Given the description of an element on the screen output the (x, y) to click on. 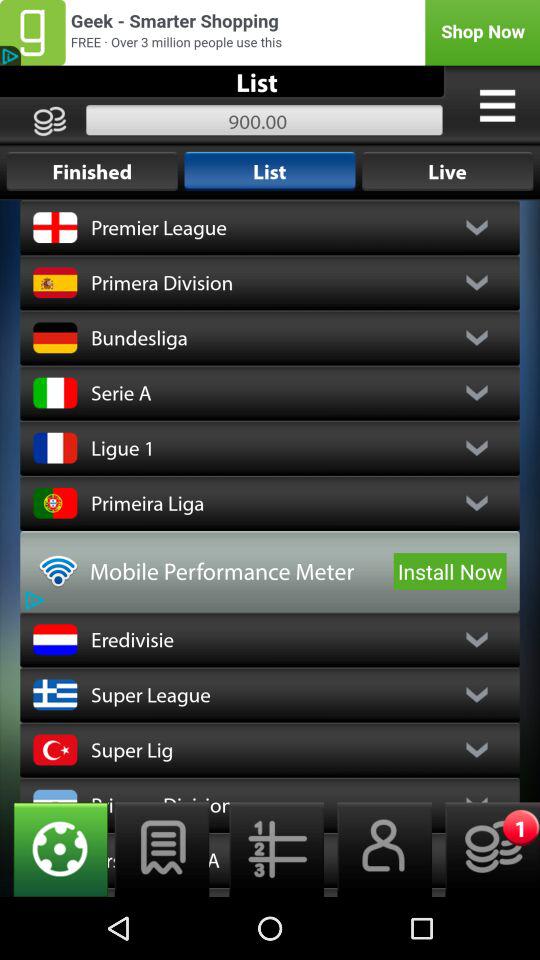
config (54, 849)
